Given the description of an element on the screen output the (x, y) to click on. 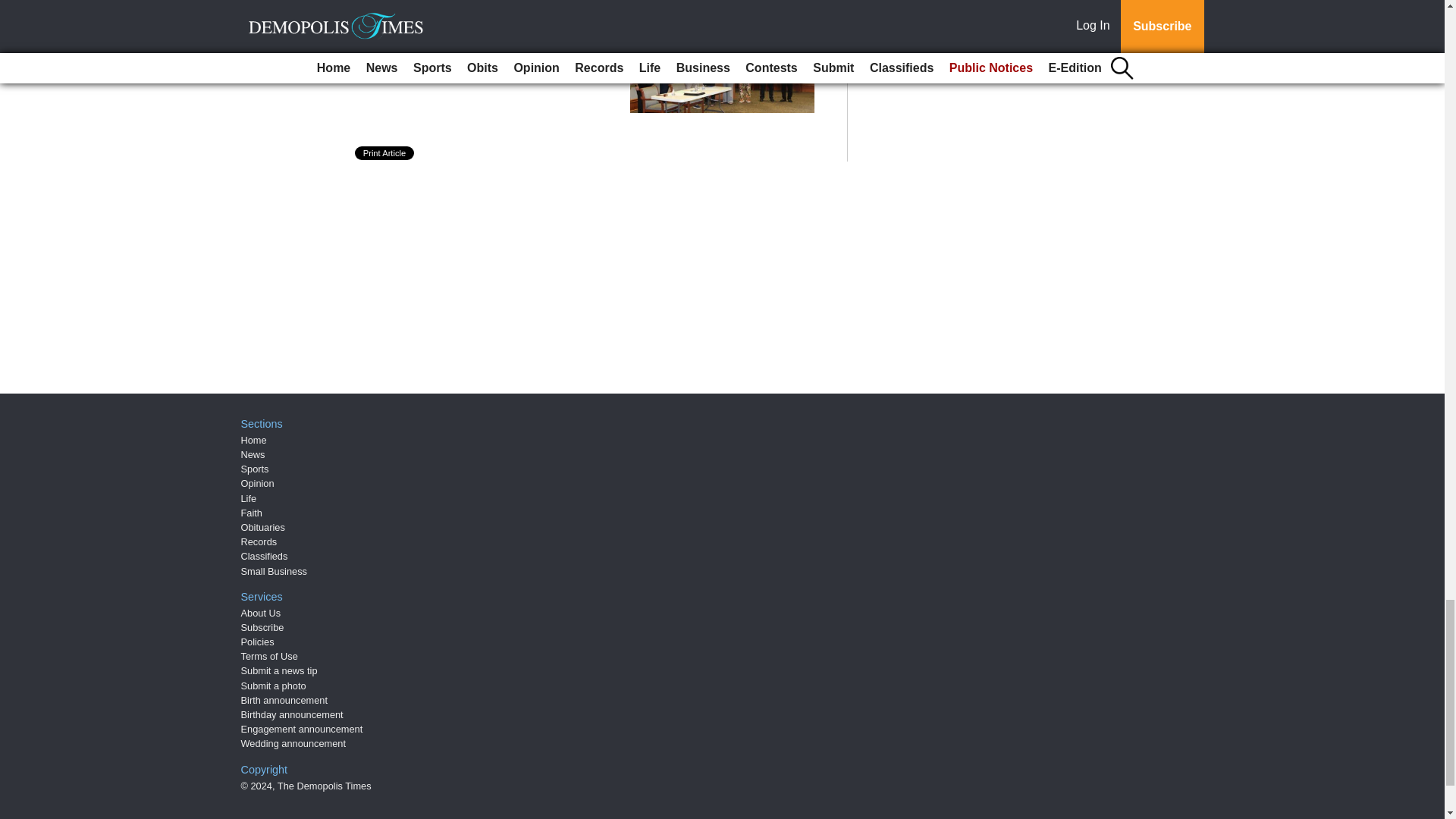
Print Article (384, 152)
